Given the description of an element on the screen output the (x, y) to click on. 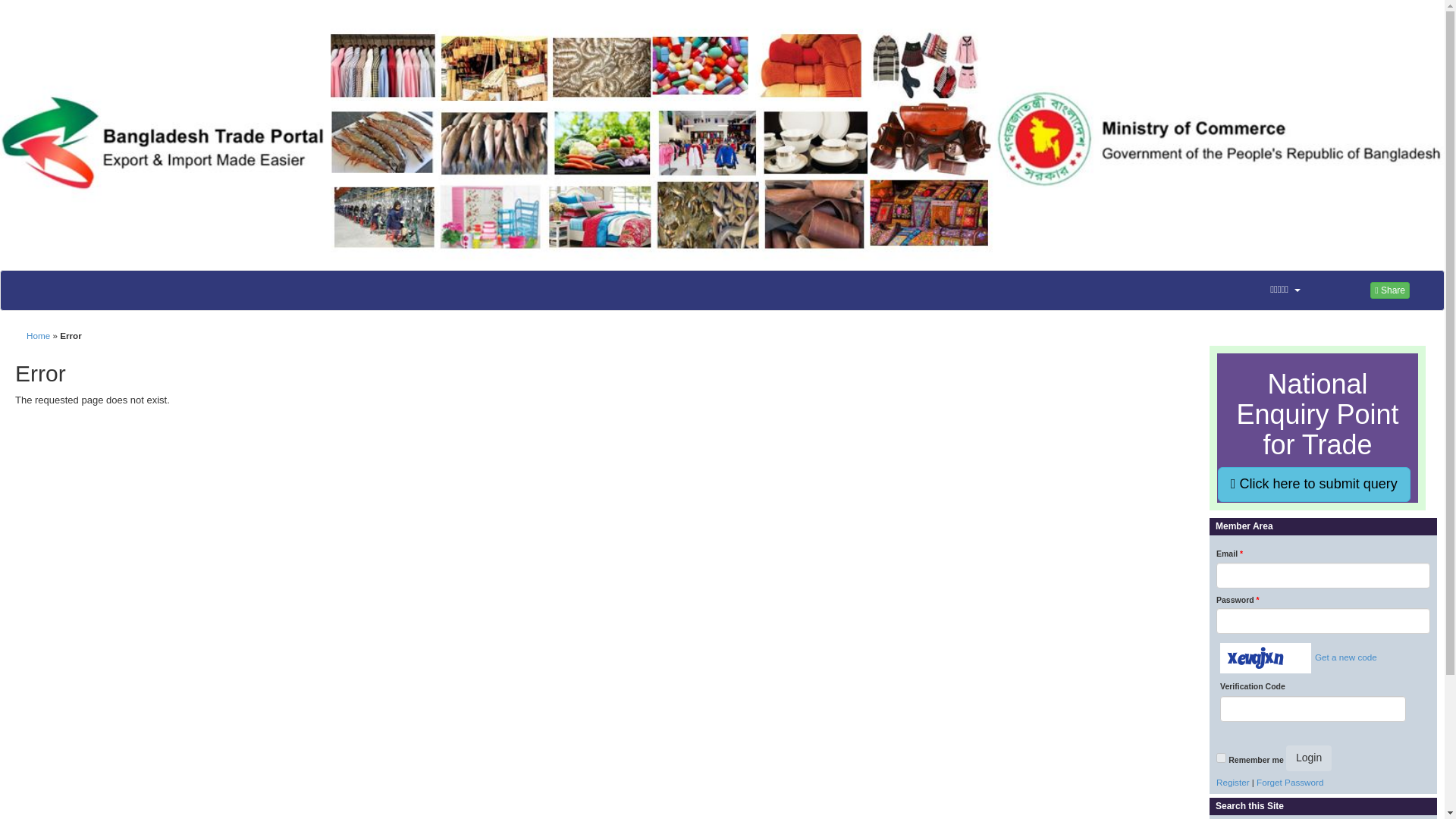
Click here to submit query (1313, 484)
Get a new code (1344, 656)
1 (1220, 757)
Login (1308, 758)
Forget Password (1289, 782)
Register (1232, 782)
Login (1308, 758)
Share (1389, 289)
Home (37, 335)
